Given the description of an element on the screen output the (x, y) to click on. 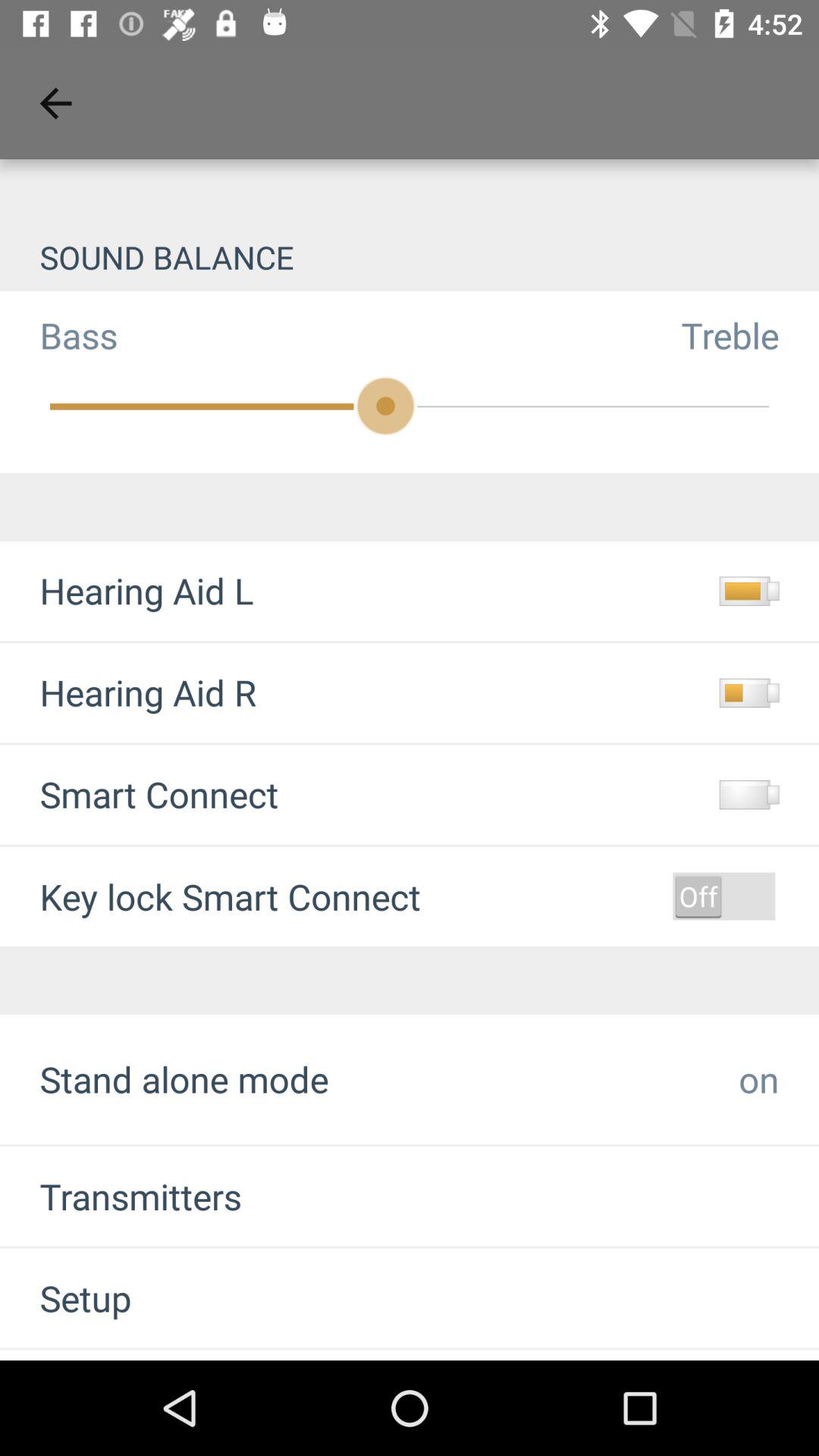
choose item above bass (409, 256)
